Given the description of an element on the screen output the (x, y) to click on. 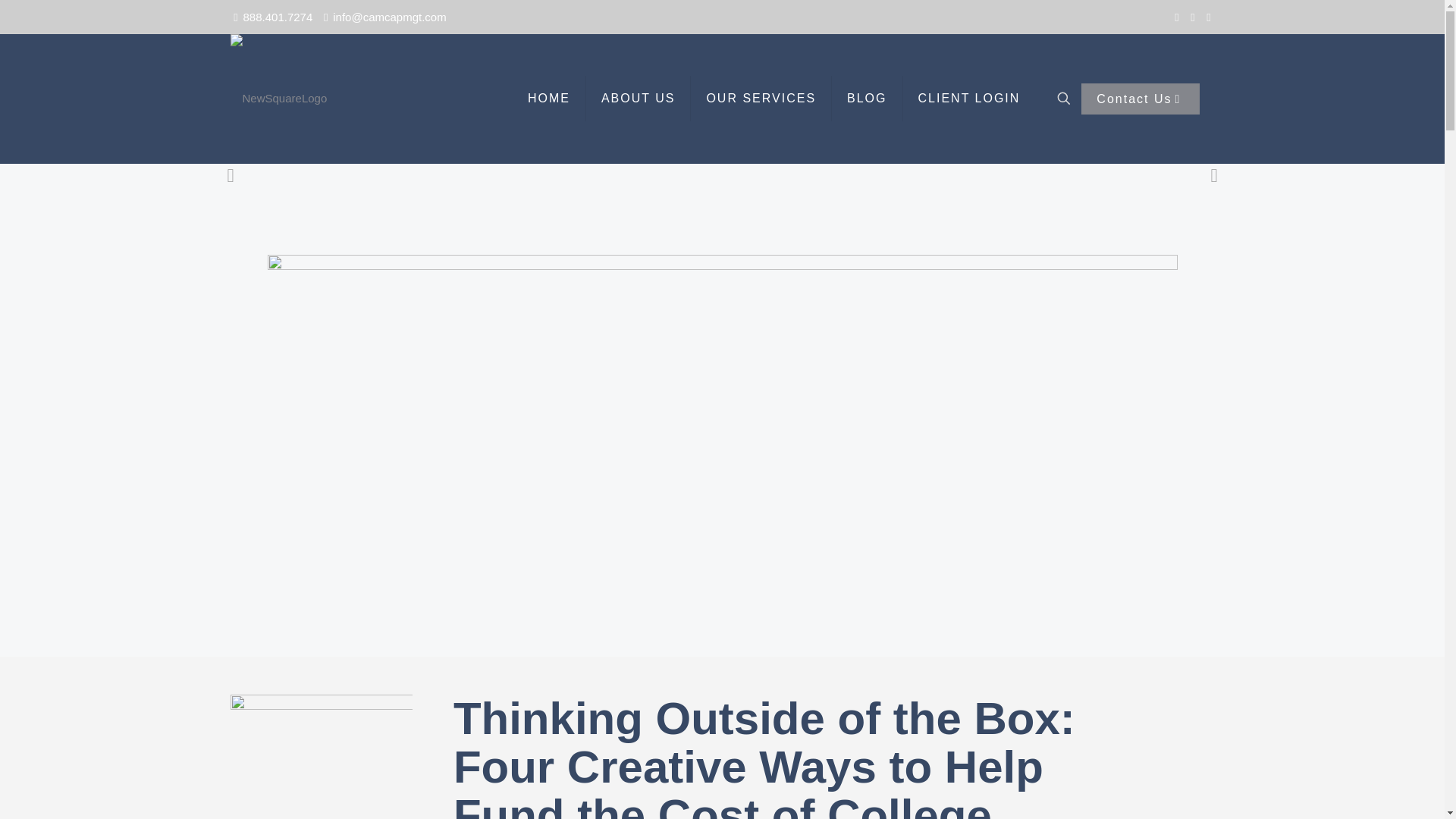
888.401.7274 (278, 16)
OUR SERVICES (760, 98)
CLIENT LOGIN (968, 98)
Contact Us (1139, 98)
